Given the description of an element on the screen output the (x, y) to click on. 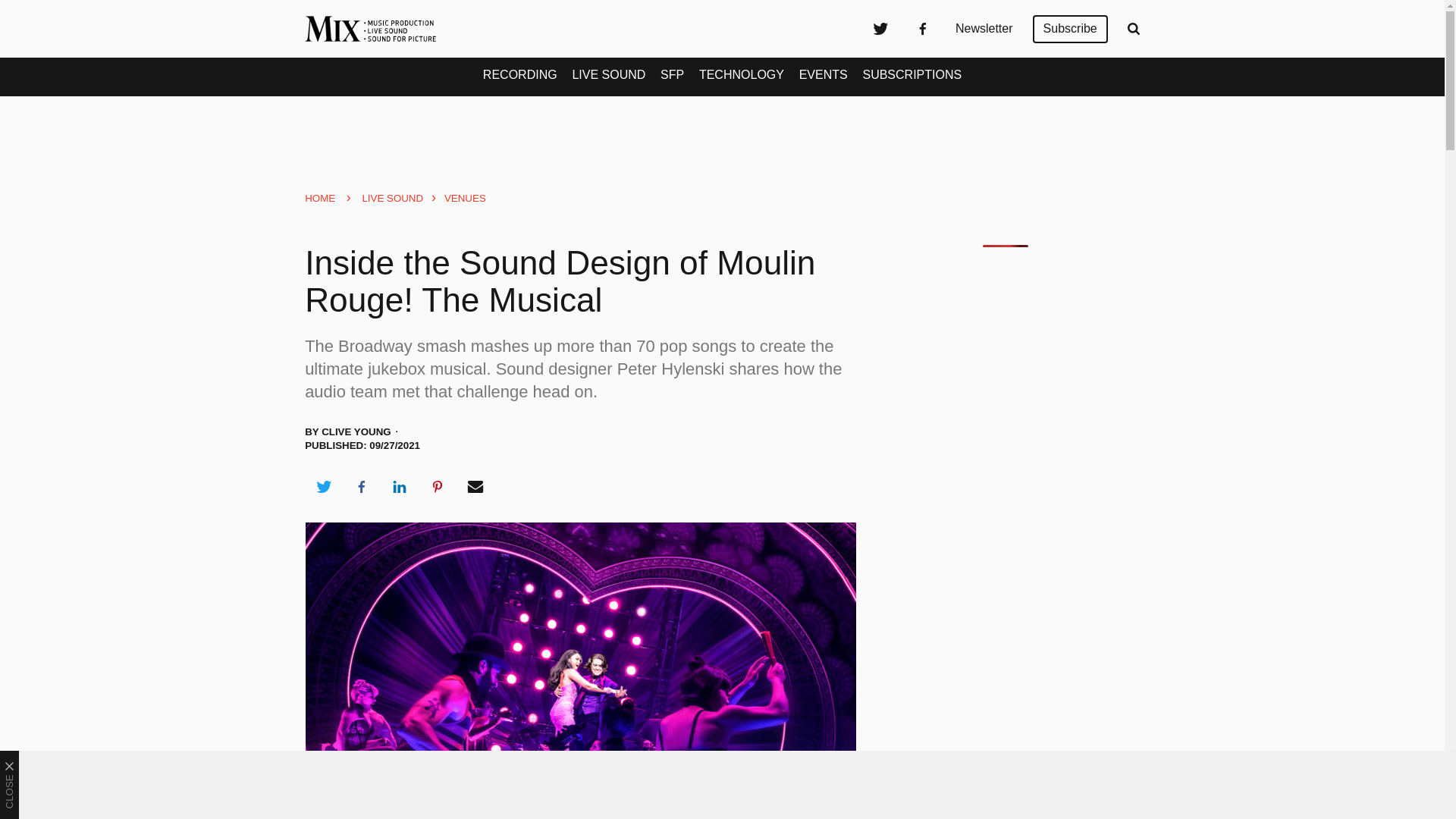
Share on Facebook (361, 486)
Share on Twitter (323, 486)
Share on Pinterest (438, 486)
Share on LinkedIn (399, 486)
Share via Email (476, 486)
